Given the description of an element on the screen output the (x, y) to click on. 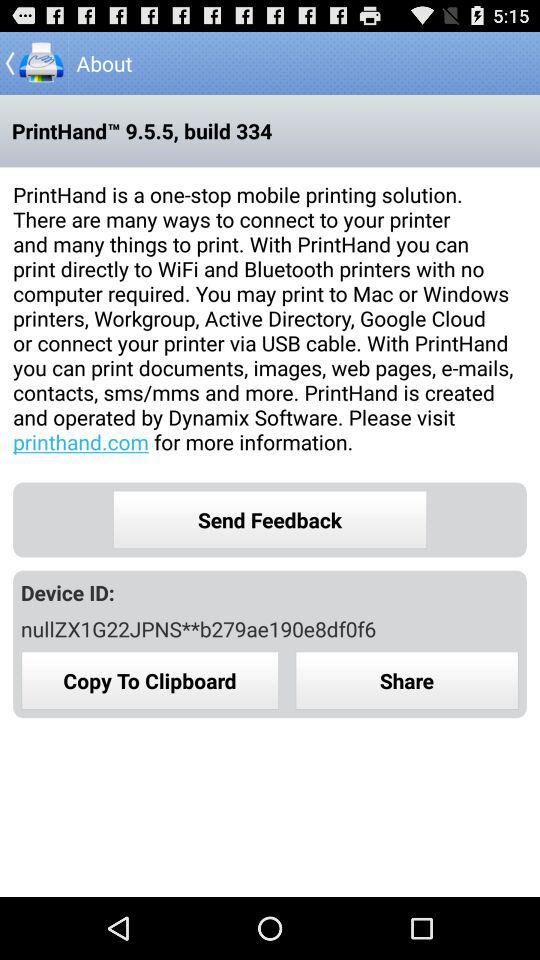
turn on copy to clipboard button (150, 680)
